Given the description of an element on the screen output the (x, y) to click on. 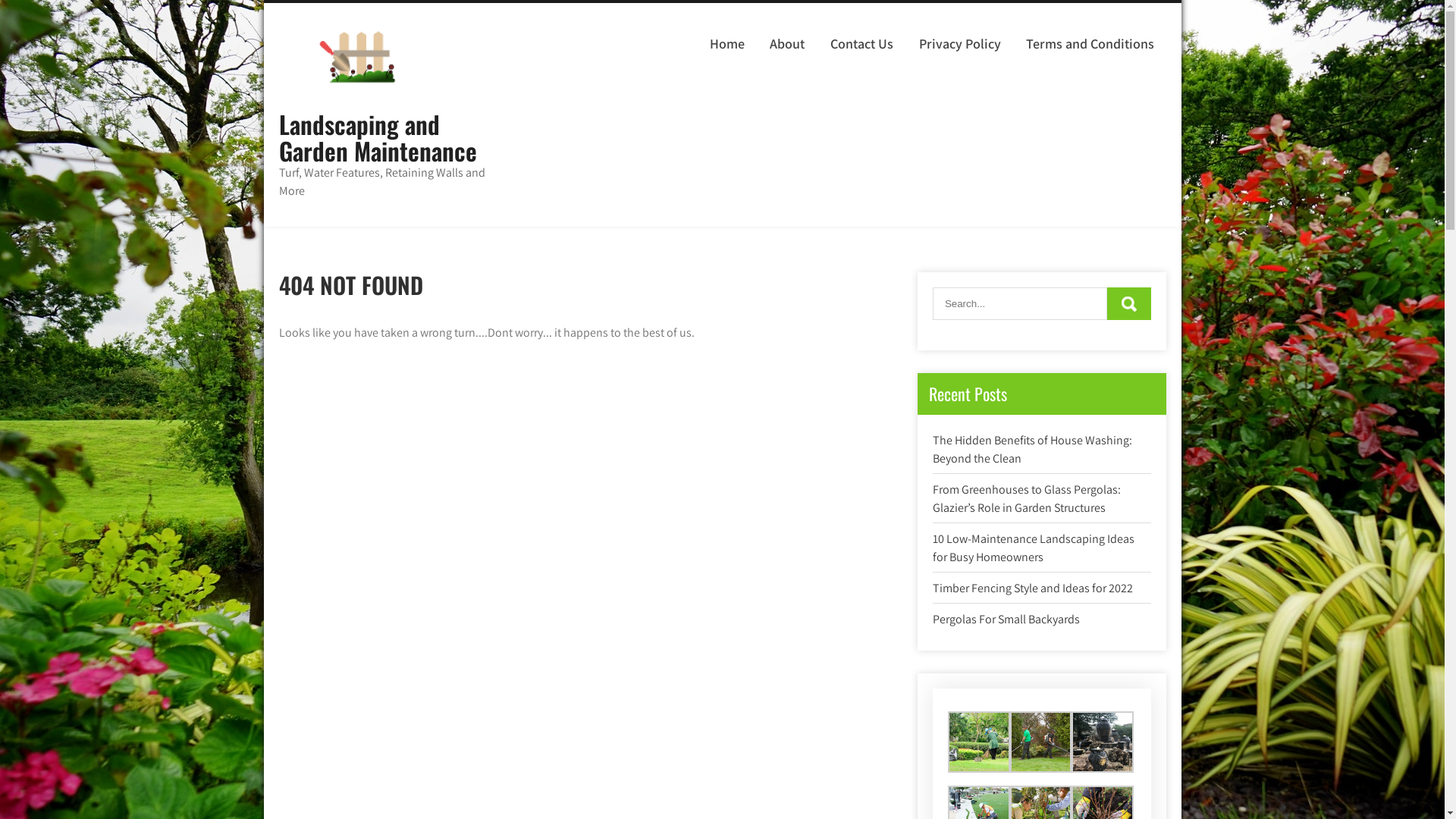
Search Element type: text (1129, 303)
Timber Fencing Style and Ideas for 2022 Element type: text (1032, 588)
10 Low-Maintenance Landscaping Ideas for Busy Homeowners Element type: text (1033, 547)
Pergolas For Small Backyards Element type: text (1005, 619)
Terms and Conditions Element type: text (1090, 43)
Home Element type: text (727, 43)
Contact Us Element type: text (862, 43)
Privacy Policy Element type: text (959, 43)
Landscaping and Garden Maintenance Element type: text (377, 137)
About Element type: text (787, 43)
The Hidden Benefits of House Washing: Beyond the Clean Element type: text (1032, 449)
